Given the description of an element on the screen output the (x, y) to click on. 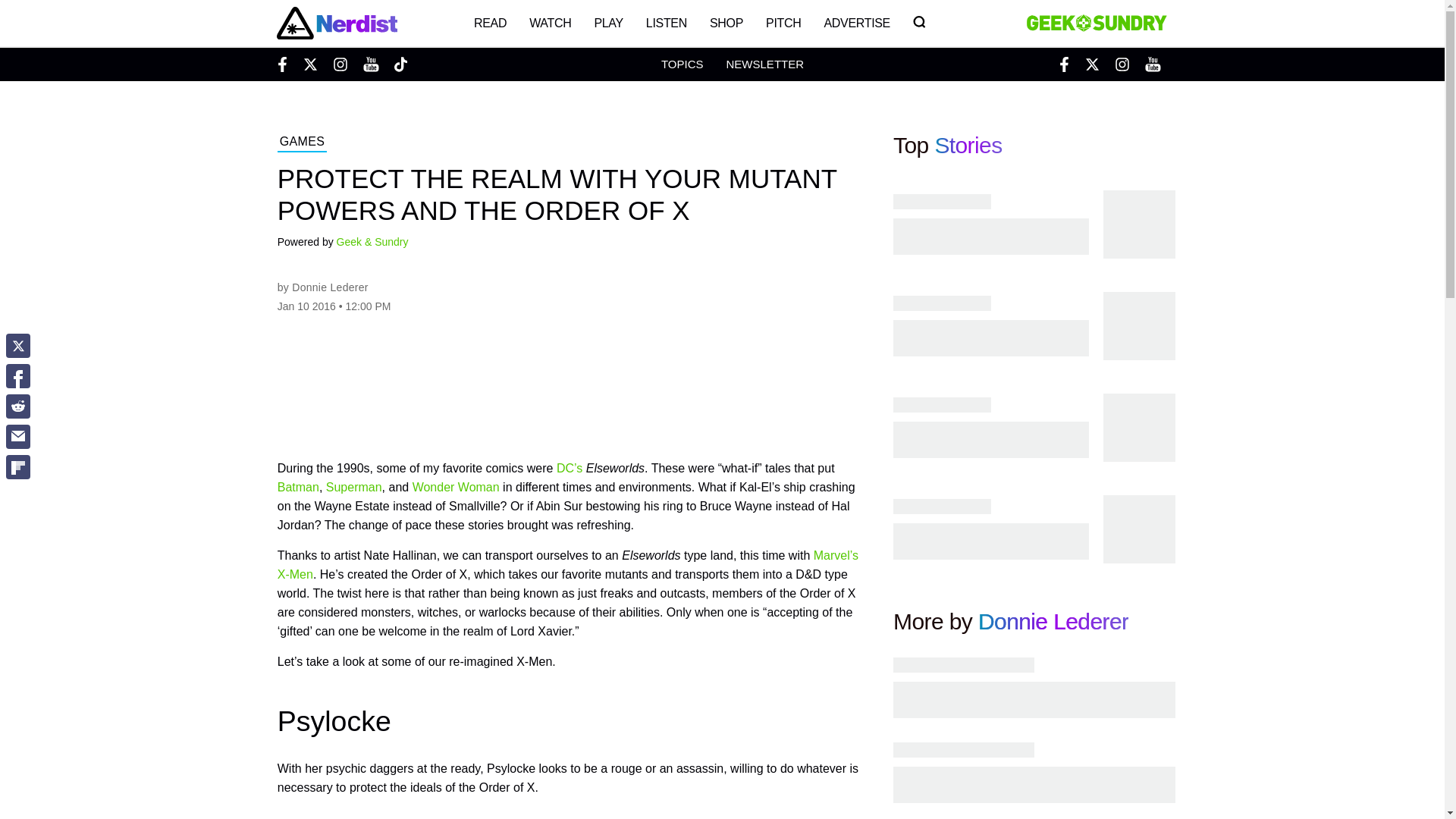
Instagram Nerdist (339, 63)
Superman (353, 486)
WATCH (550, 22)
Batman (298, 486)
NEWSLETTER (764, 63)
LISTEN (666, 22)
SHOP (726, 22)
PLAY (607, 22)
Newsletter (764, 63)
Nerdist (336, 23)
TOPICS (681, 63)
ADVERTISE (856, 22)
SHOP (726, 22)
PITCH (783, 22)
READ (490, 22)
